Given the description of an element on the screen output the (x, y) to click on. 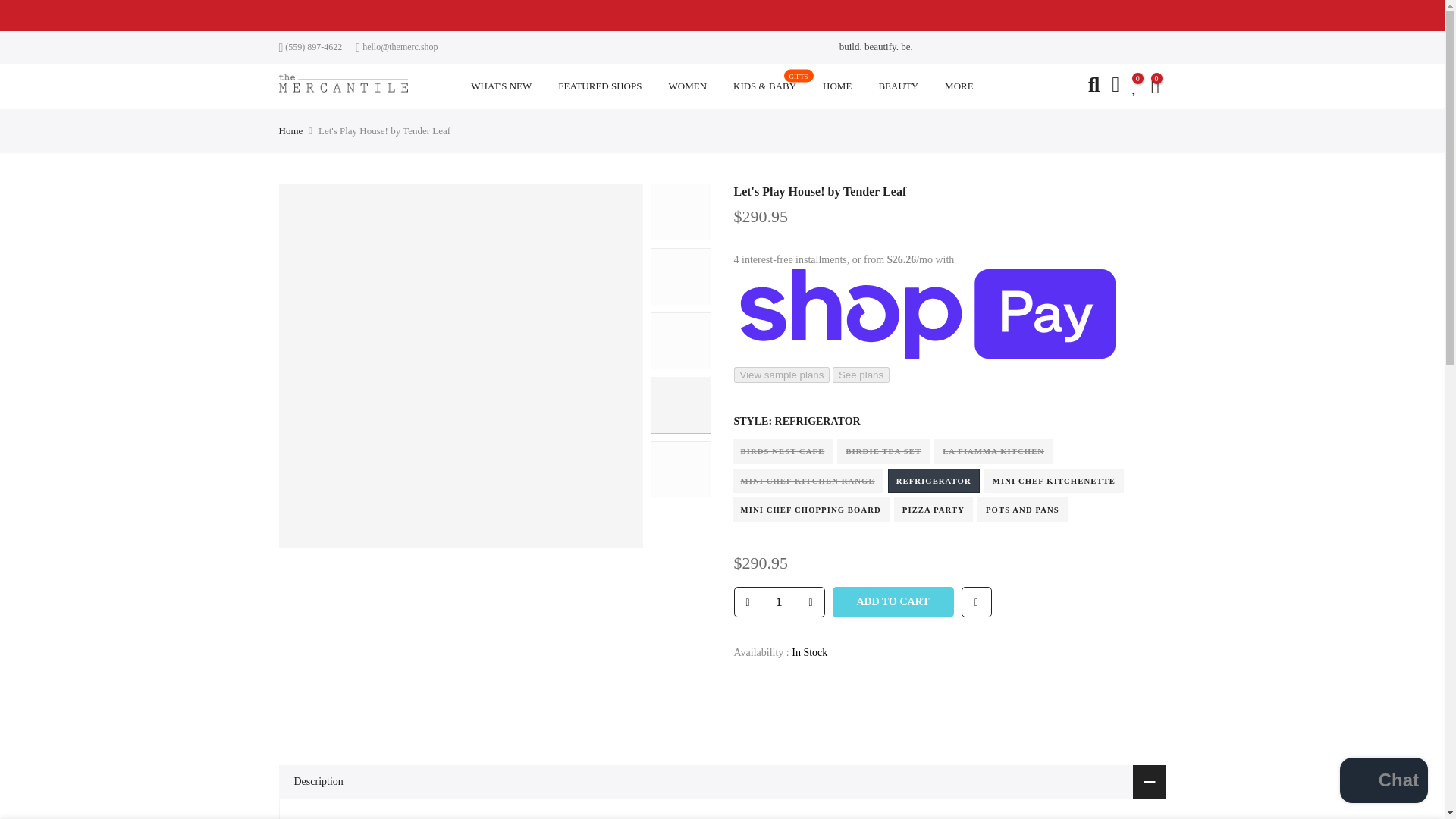
1 (778, 602)
Home (290, 131)
BEAUTY (897, 85)
HOME (836, 85)
FEATURED SHOPS (599, 85)
Shopify online store chat (1383, 781)
WHAT'S NEW (501, 85)
ADD TO CART (892, 602)
WOMEN (687, 85)
MORE (959, 85)
